Given the description of an element on the screen output the (x, y) to click on. 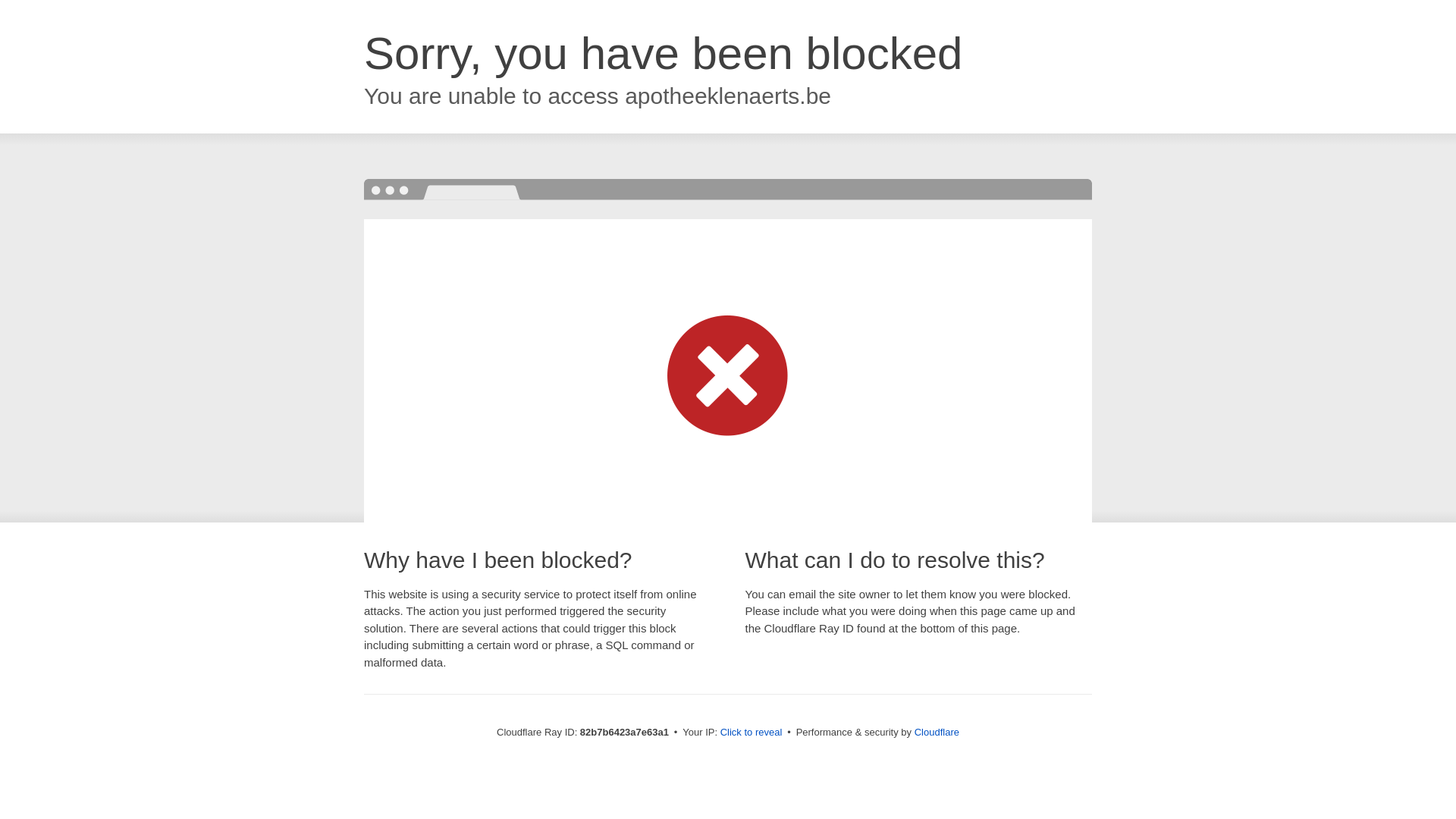
Click to reveal Element type: text (751, 732)
Cloudflare Element type: text (936, 731)
